Given the description of an element on the screen output the (x, y) to click on. 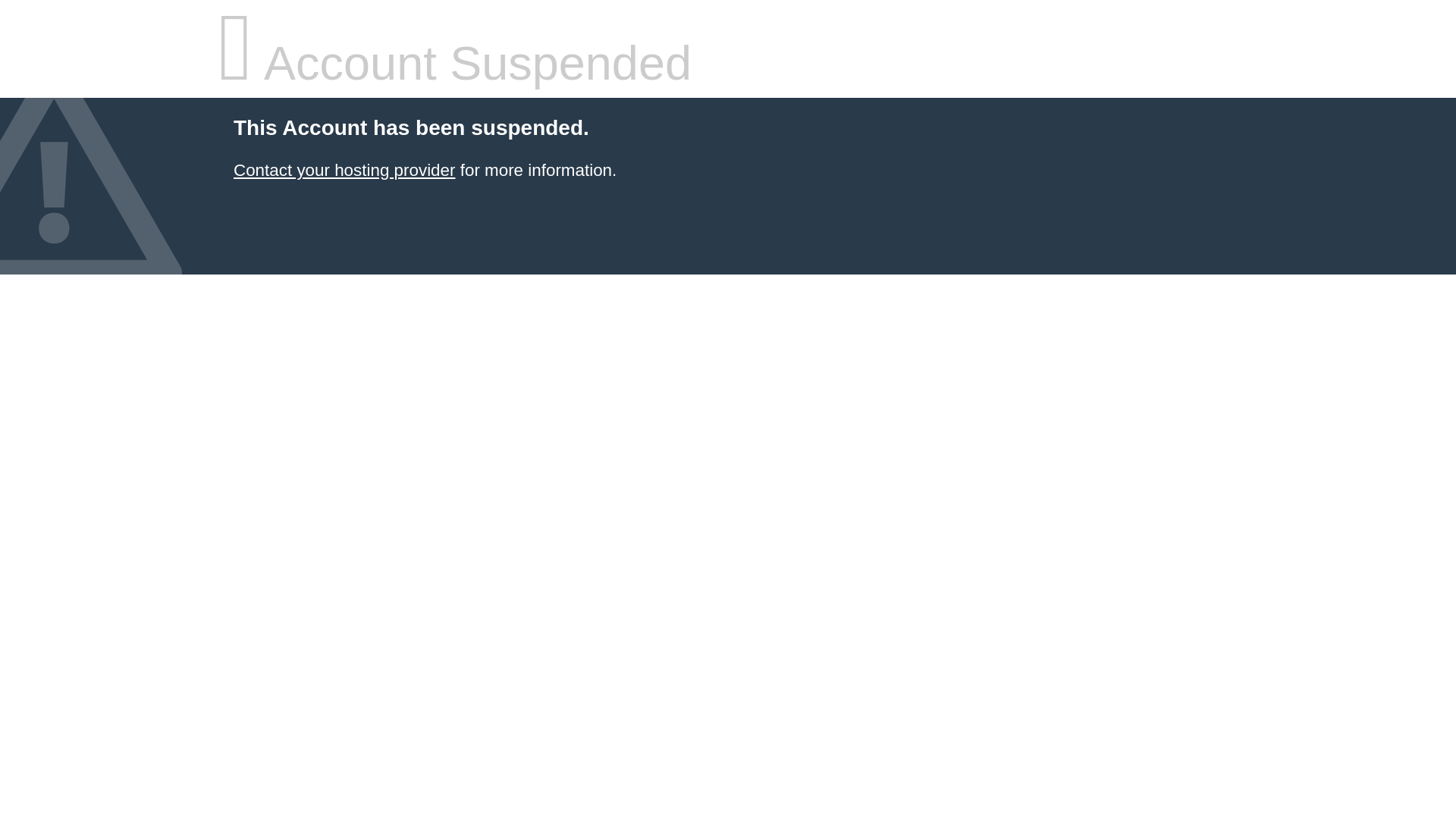
Contact your hosting provider (343, 169)
